Given the description of an element on the screen output the (x, y) to click on. 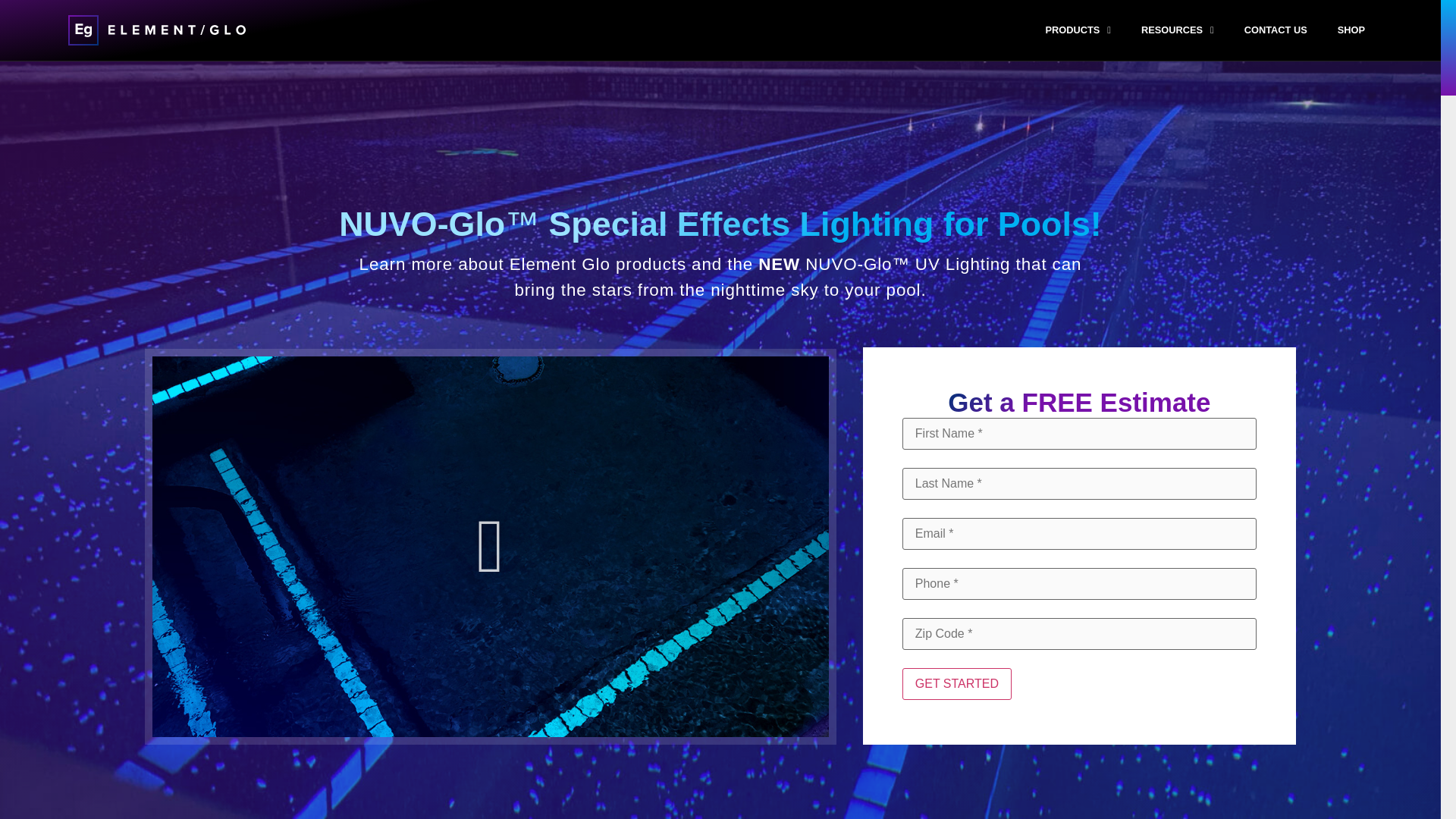
CONTACT US (1275, 29)
RESOURCES (1176, 29)
PRODUCTS (1078, 29)
SHOP (1351, 29)
